Given the description of an element on the screen output the (x, y) to click on. 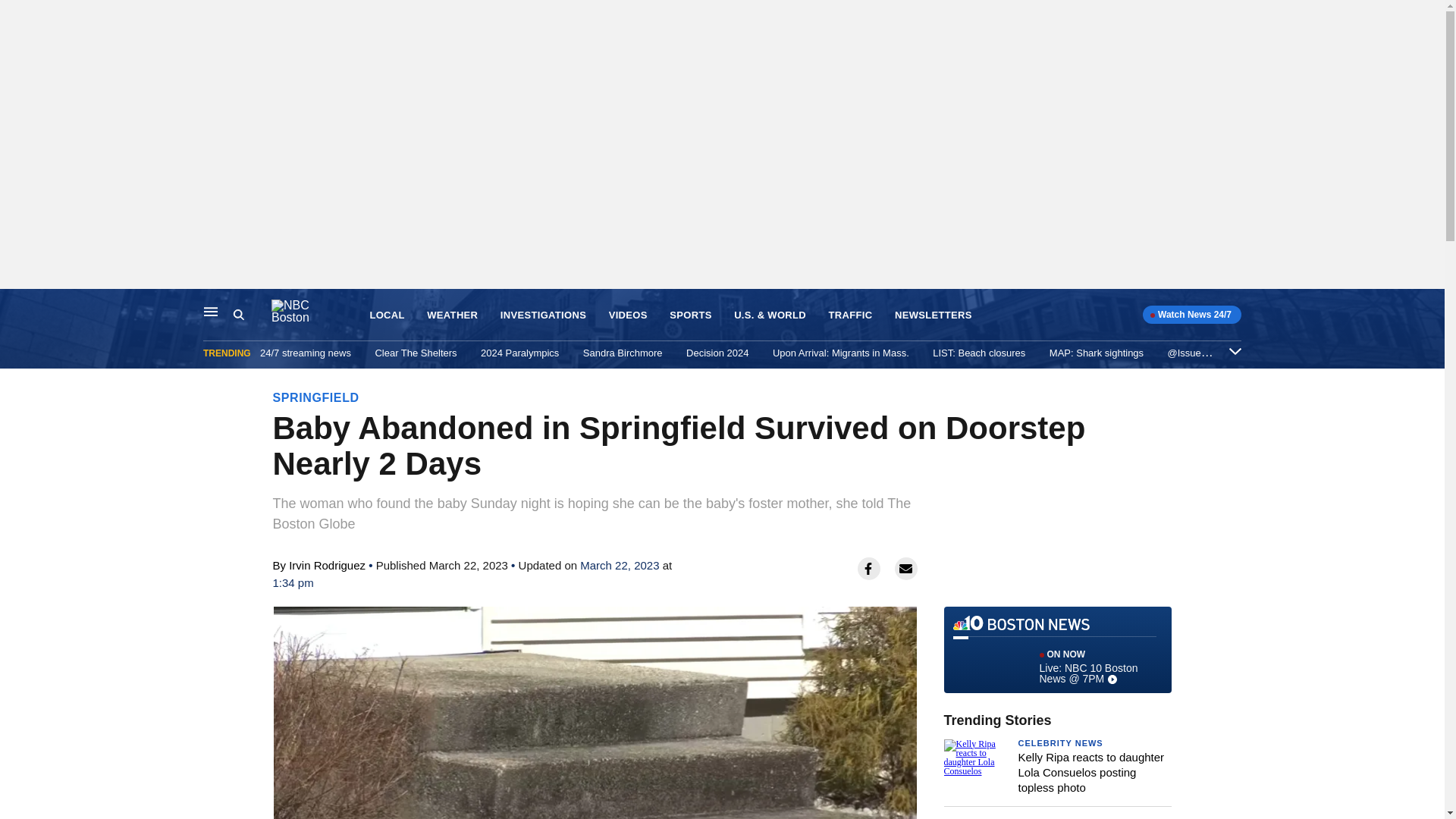
MAP: Shark sightings (1095, 352)
Search (252, 314)
INVESTIGATIONS (543, 315)
2024 Paralympics (519, 352)
Decision 2024 (716, 352)
Skip to content (16, 304)
LOCAL (386, 315)
LIST: Beach closures (979, 352)
SPRINGFIELD (316, 397)
TRAFFIC (850, 315)
